Given the description of an element on the screen output the (x, y) to click on. 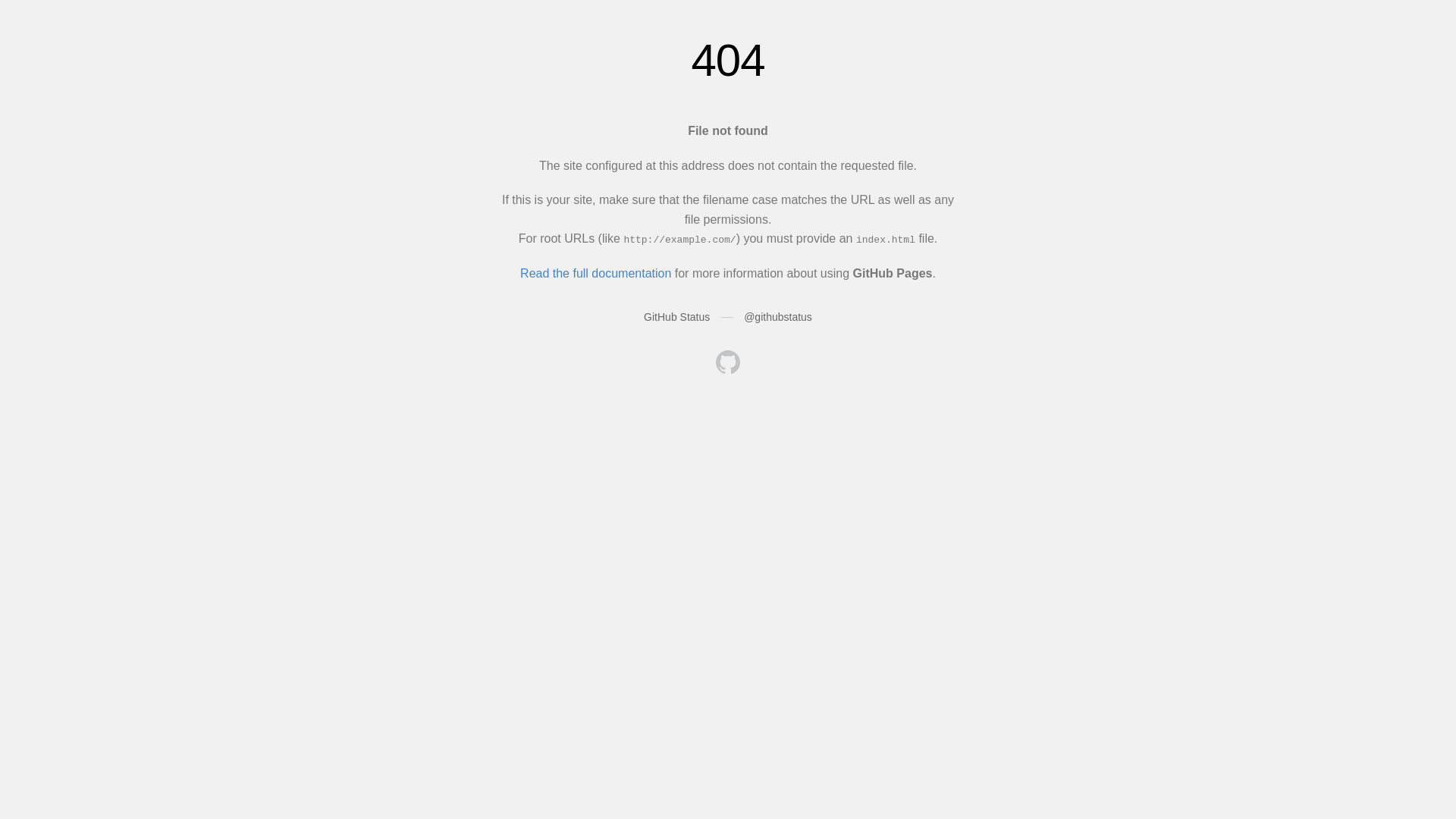
GitHub Status Element type: text (676, 316)
Read the full documentation Element type: text (595, 272)
@githubstatus Element type: text (777, 316)
